Given the description of an element on the screen output the (x, y) to click on. 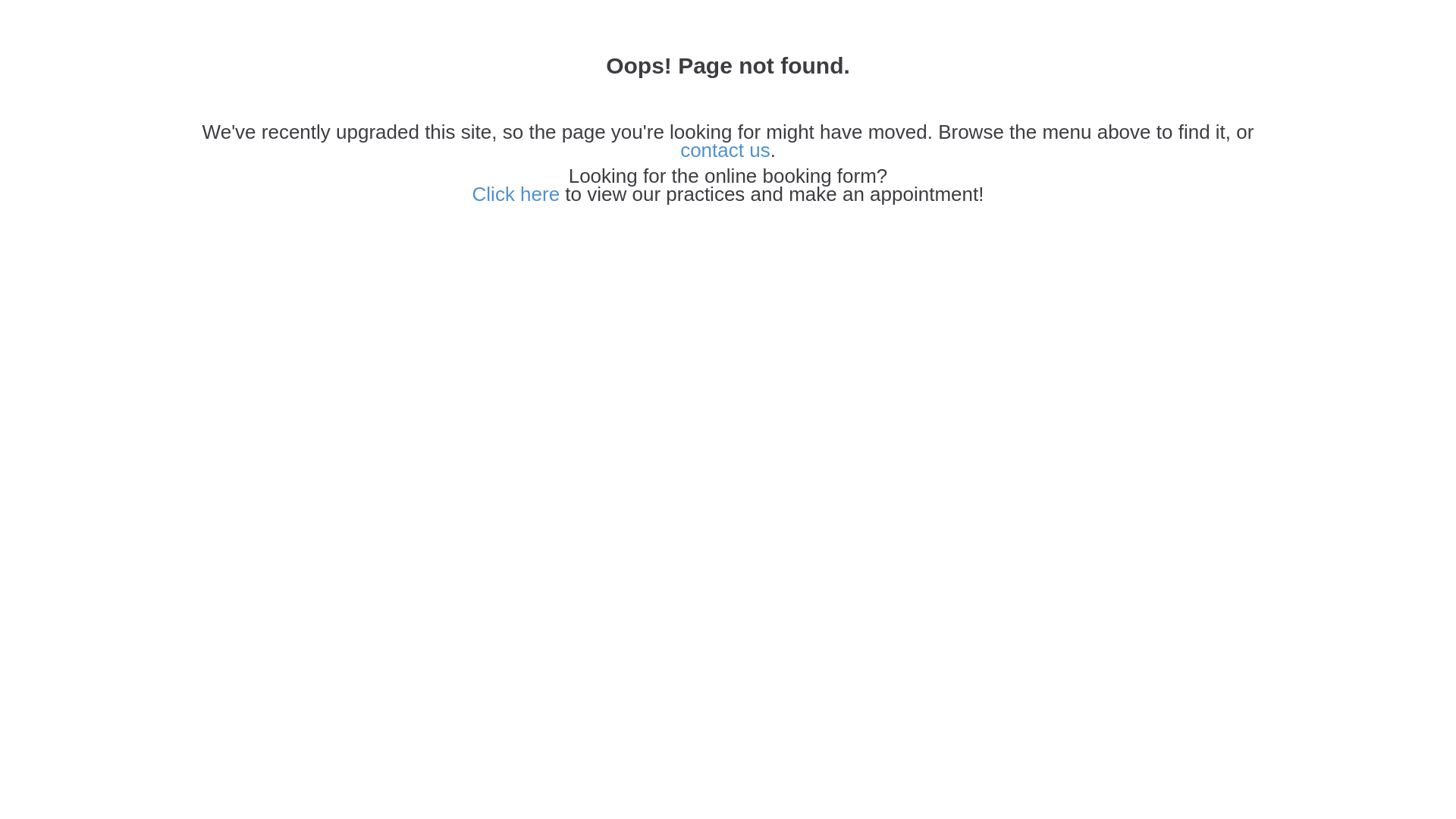
Click here Element type: text (516, 193)
contact us Element type: text (725, 149)
